Given the description of an element on the screen output the (x, y) to click on. 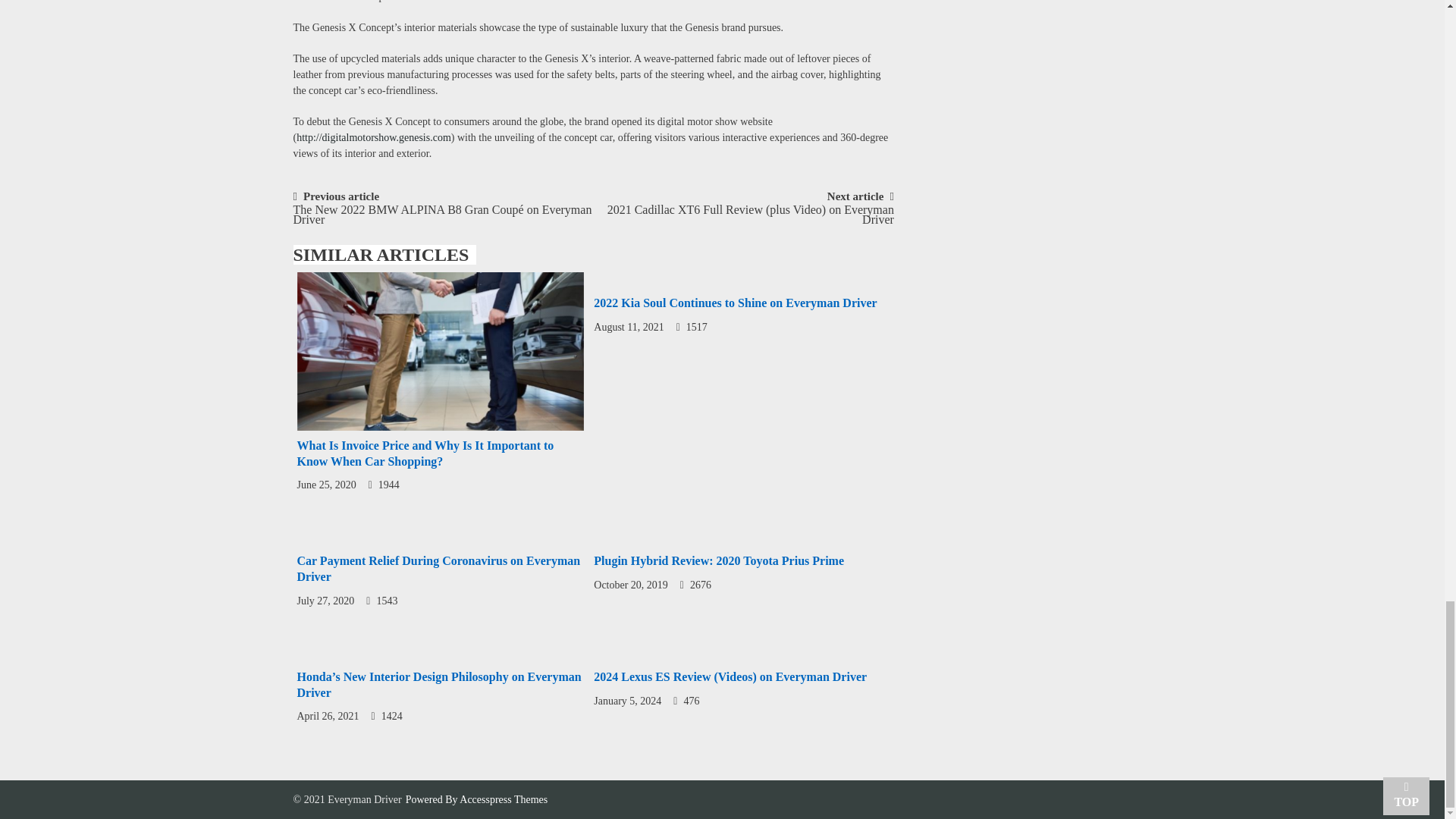
2022 Kia Soul Continues to Shine on Everyman Driver (735, 302)
2022 Kia Soul Continues to Shine on Everyman Driver (735, 302)
June 25, 2020 (326, 484)
August 11, 2021 (628, 326)
October 20, 2019 (631, 584)
Car Payment Relief During Coronavirus on Everyman Driver (438, 568)
Plugin Hybrid Review: 2020 Toyota Prius Prime (719, 560)
Car Payment Relief During Coronavirus on Everyman Driver (438, 568)
July 27, 2020 (326, 600)
2022 Kia Soul Continues to Shine on Everyman Driver (737, 279)
Car Payment Relief During Coronavirus on Everyman Driver (440, 537)
Plugin Hybrid Review: 2020 Toyota Prius Prime (719, 560)
